Given the description of an element on the screen output the (x, y) to click on. 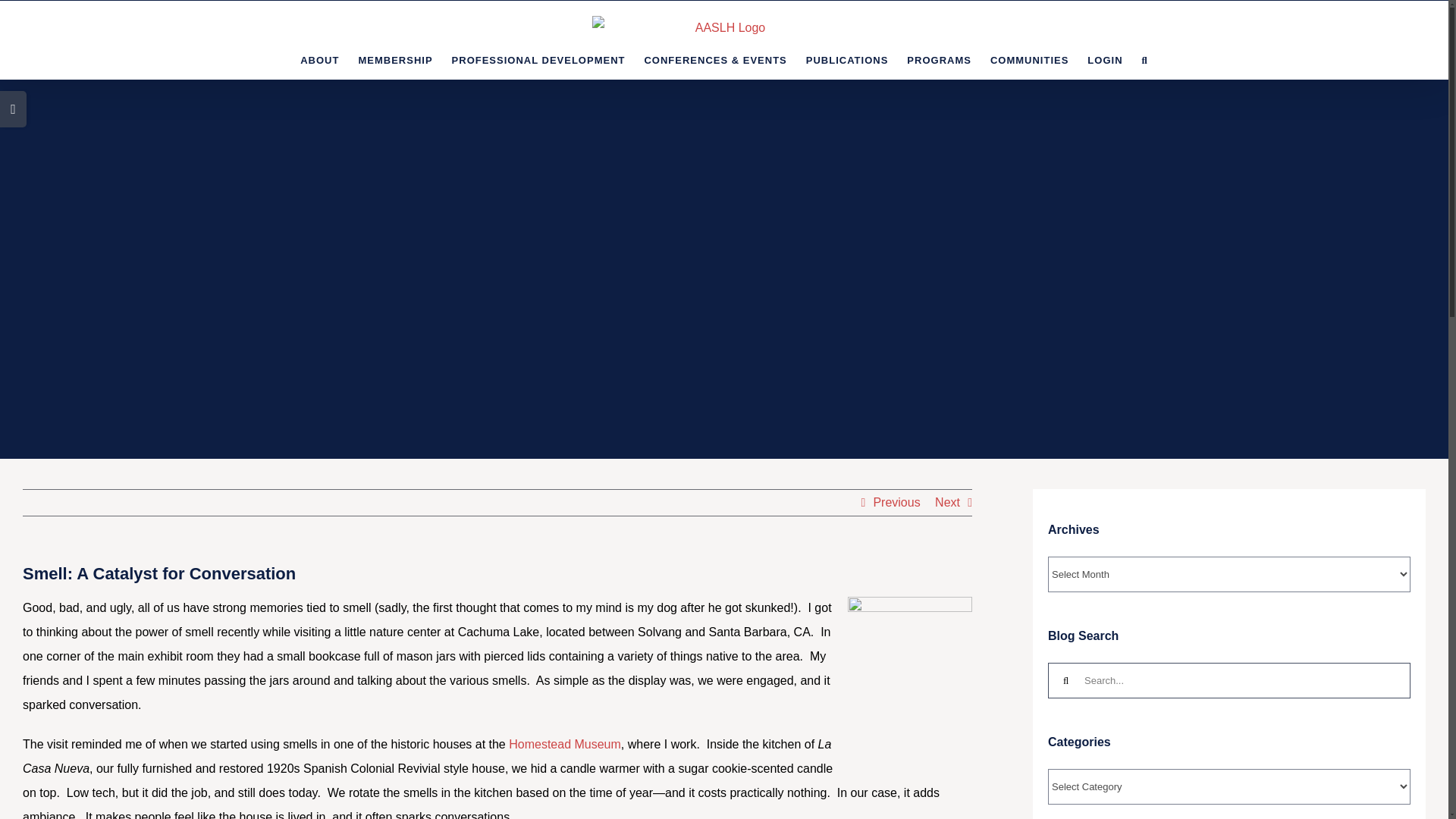
PUBLICATIONS (847, 59)
PROFESSIONAL DEVELOPMENT (538, 59)
Homestead Museum (564, 744)
MEMBERSHIP (395, 59)
ABOUT (319, 59)
